Given the description of an element on the screen output the (x, y) to click on. 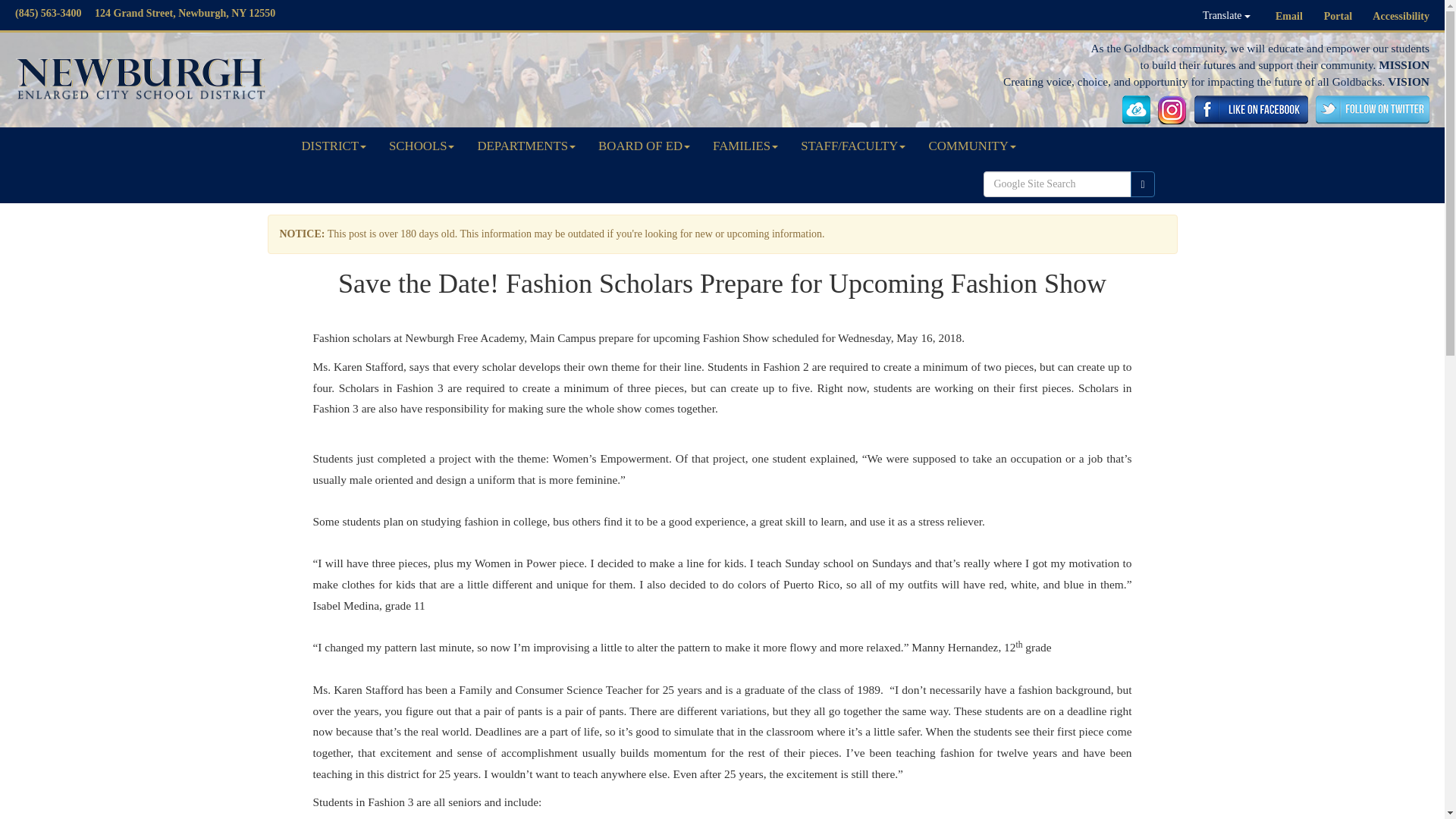
Email (1289, 16)
SCHOOLS (421, 146)
DISTRICT (333, 146)
Portal (1337, 16)
Translate (1226, 15)
Accessibility (1401, 16)
